Given the description of an element on the screen output the (x, y) to click on. 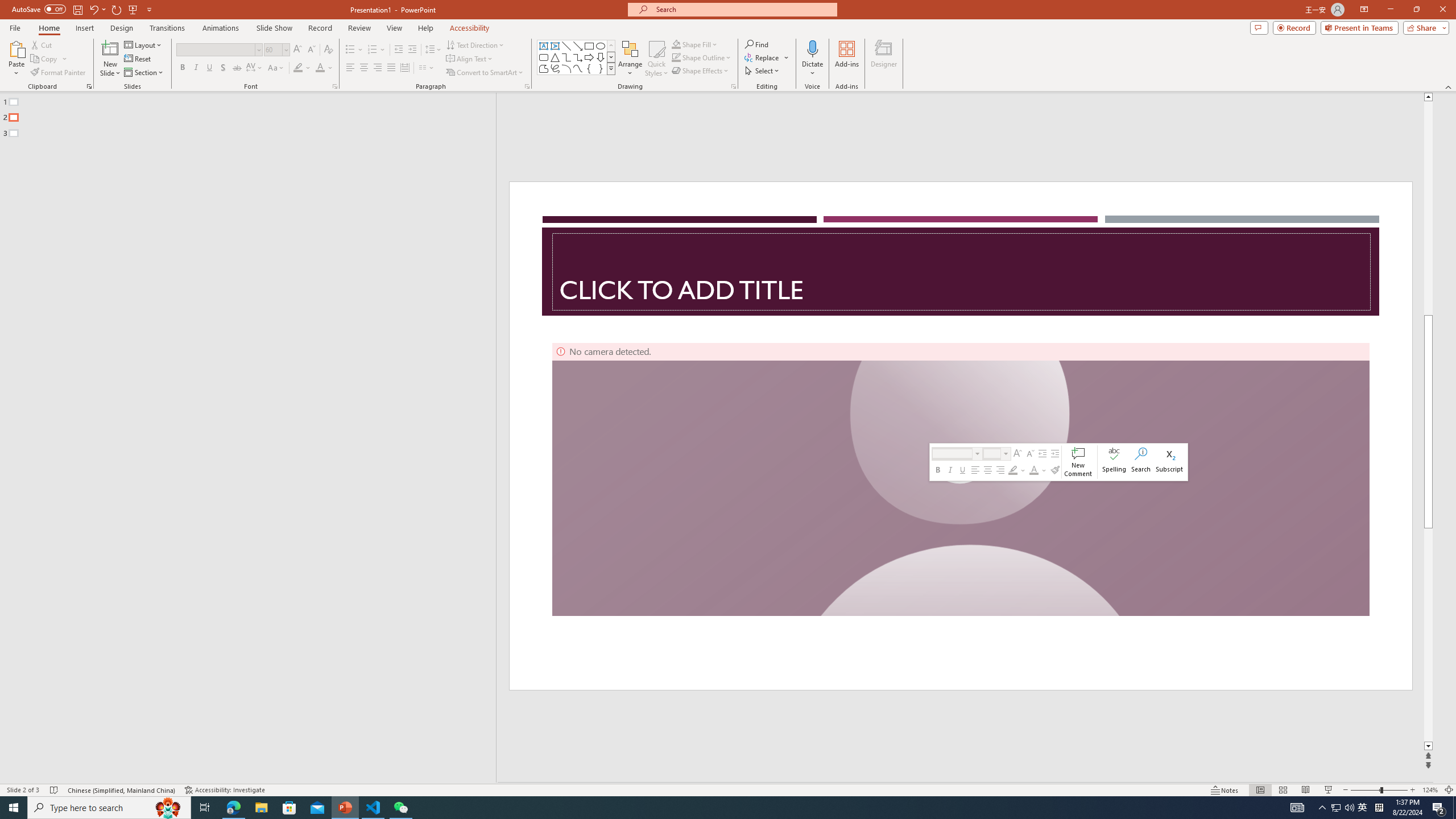
Class: NetUIToolWindow (1058, 462)
